Given the description of an element on the screen output the (x, y) to click on. 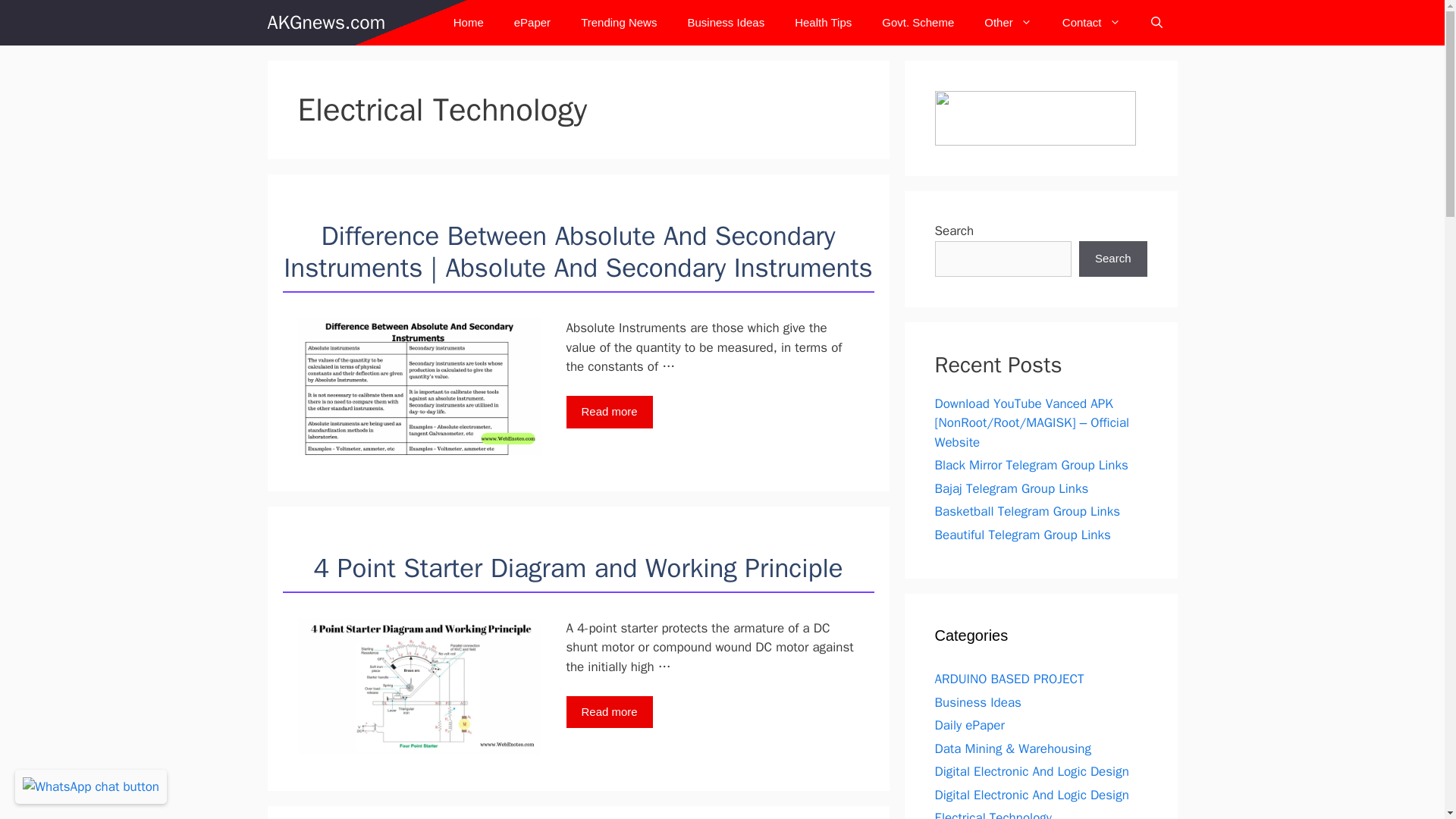
4 Point Starter Diagram and Working Principle (609, 712)
Trending News (618, 22)
Health Tips (822, 22)
Let's start chat on WhatsApp (90, 786)
4 Point Starter Diagram and Working Principle (578, 567)
Business Ideas (724, 22)
Other (1007, 22)
ePaper (532, 22)
Read more (609, 712)
Read more (609, 411)
